Given the description of an element on the screen output the (x, y) to click on. 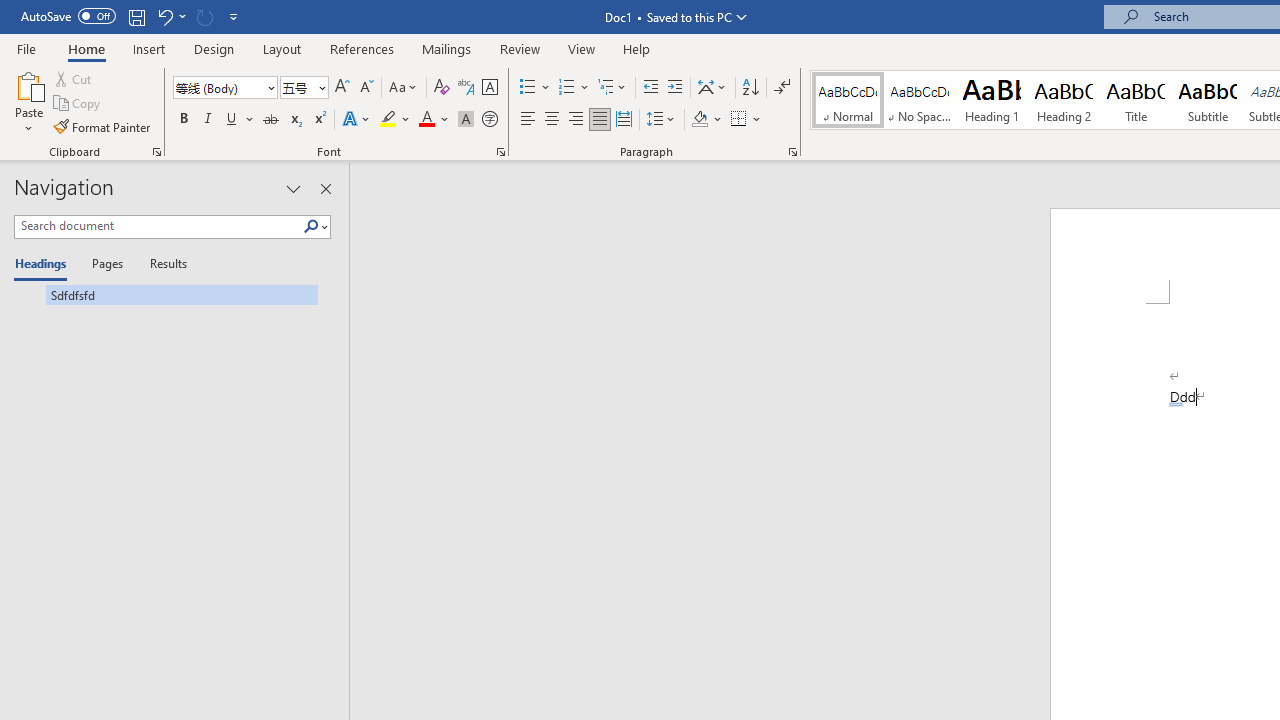
Undo AutoCorrect (170, 15)
